Given the description of an element on the screen output the (x, y) to click on. 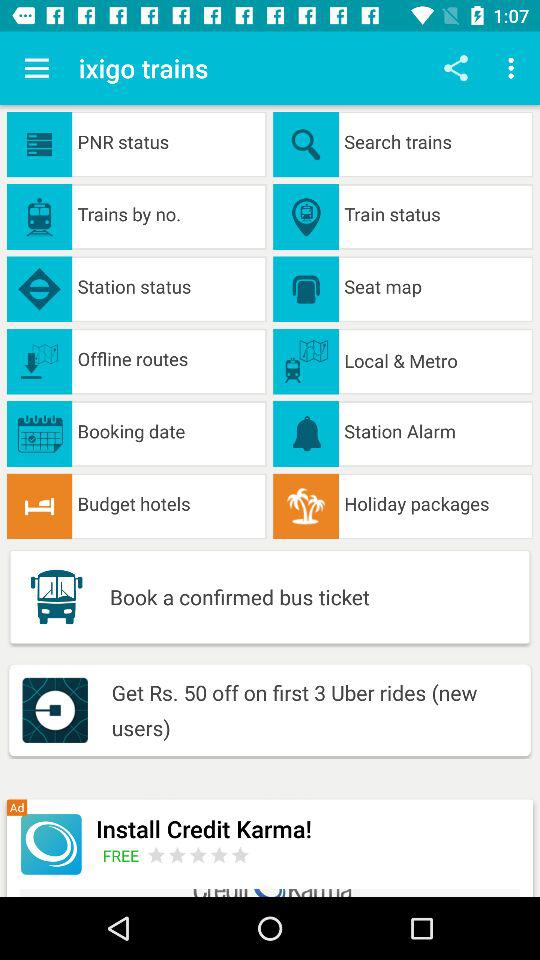
share info from app (455, 67)
